Given the description of an element on the screen output the (x, y) to click on. 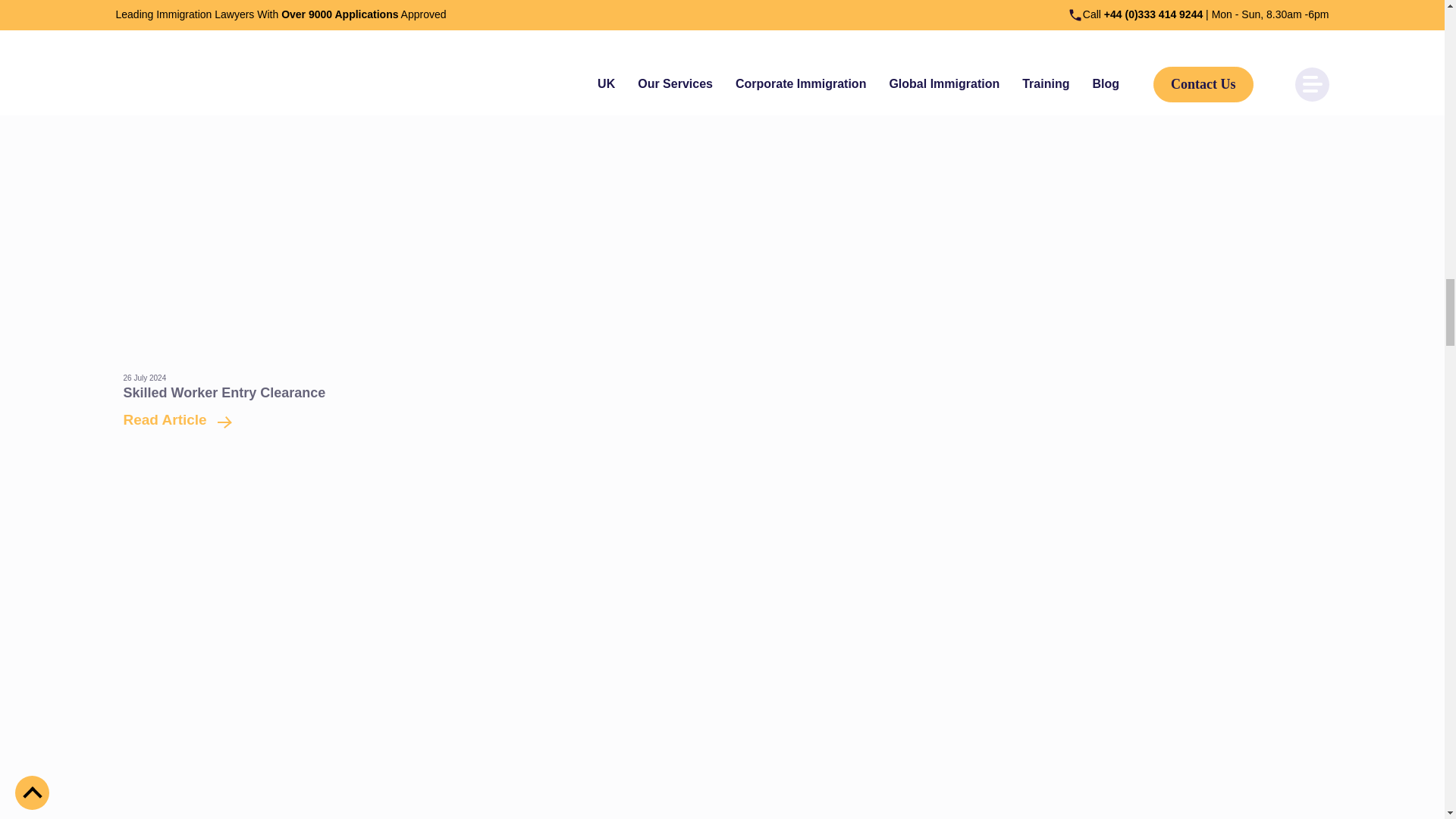
Skilled Worker Entry Clearance (223, 392)
Skilled Worker Entry Clearance (171, 419)
